Given the description of an element on the screen output the (x, y) to click on. 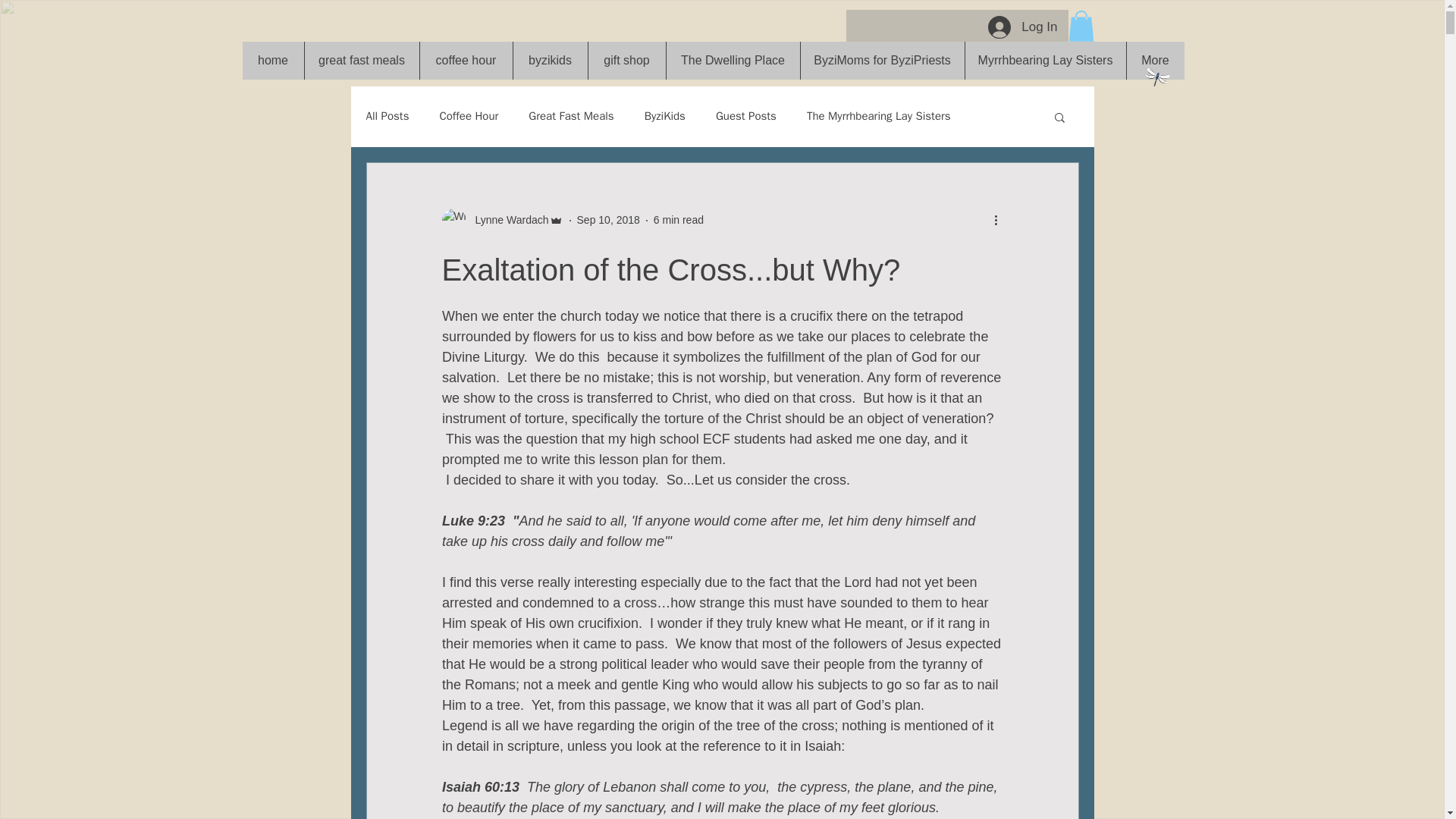
All Posts (387, 115)
Lynne Wardach (506, 220)
gift shop (625, 60)
Coffee Hour (468, 115)
Myrrhbearing Lay Sisters (1044, 60)
The Myrrhbearing Lay Sisters (878, 115)
byzikids (550, 60)
The Dwelling Place (732, 60)
6 min read (678, 219)
ByziMoms for ByziPriests (881, 60)
Log In (1021, 26)
home (273, 60)
Great Fast Meals (570, 115)
Sep 10, 2018 (608, 219)
Lynne Wardach (501, 220)
